Given the description of an element on the screen output the (x, y) to click on. 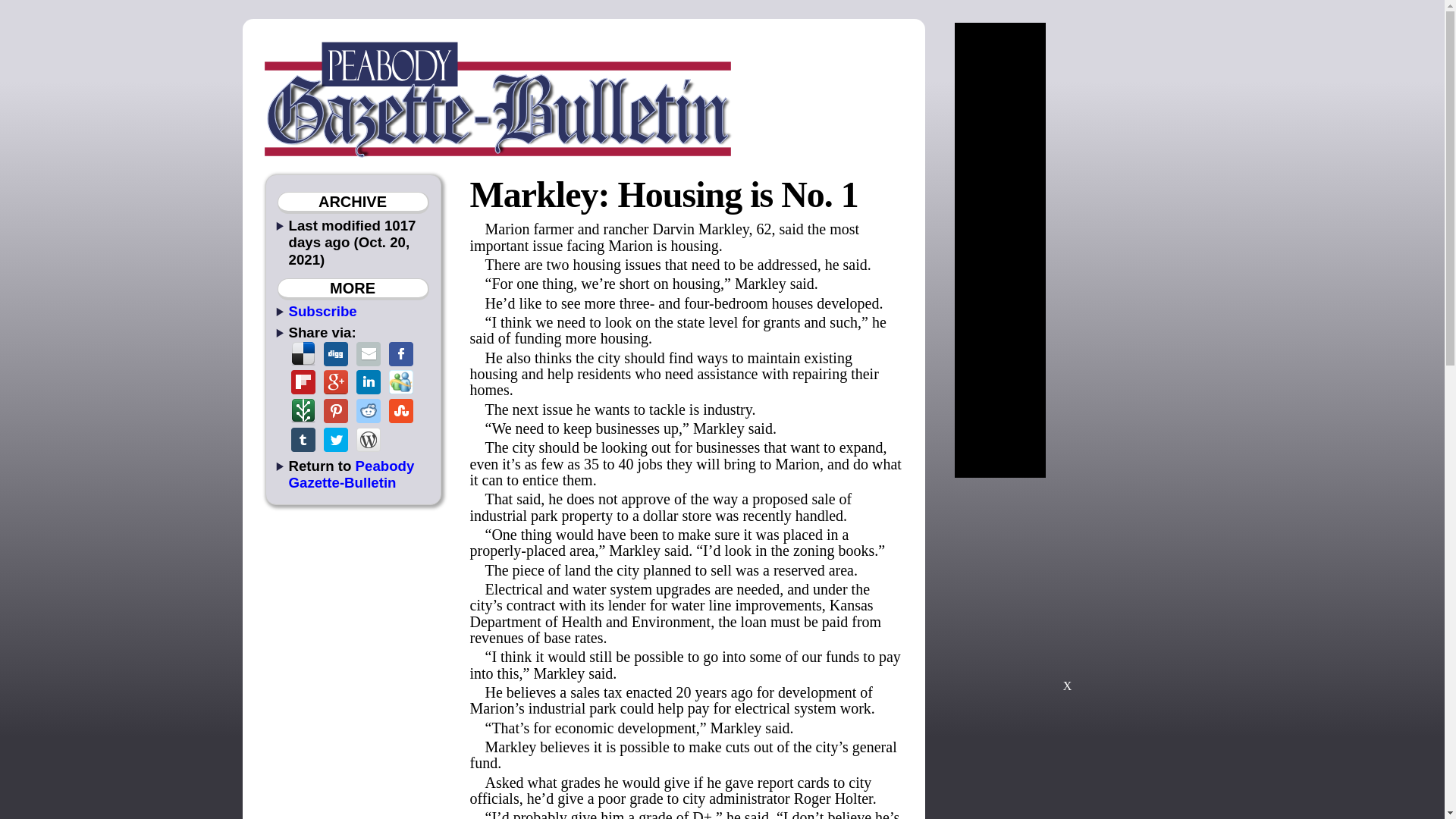
Subscribe (322, 311)
Advertisement (1067, 591)
Peabody Gazette-Bulletin (350, 473)
